Given the description of an element on the screen output the (x, y) to click on. 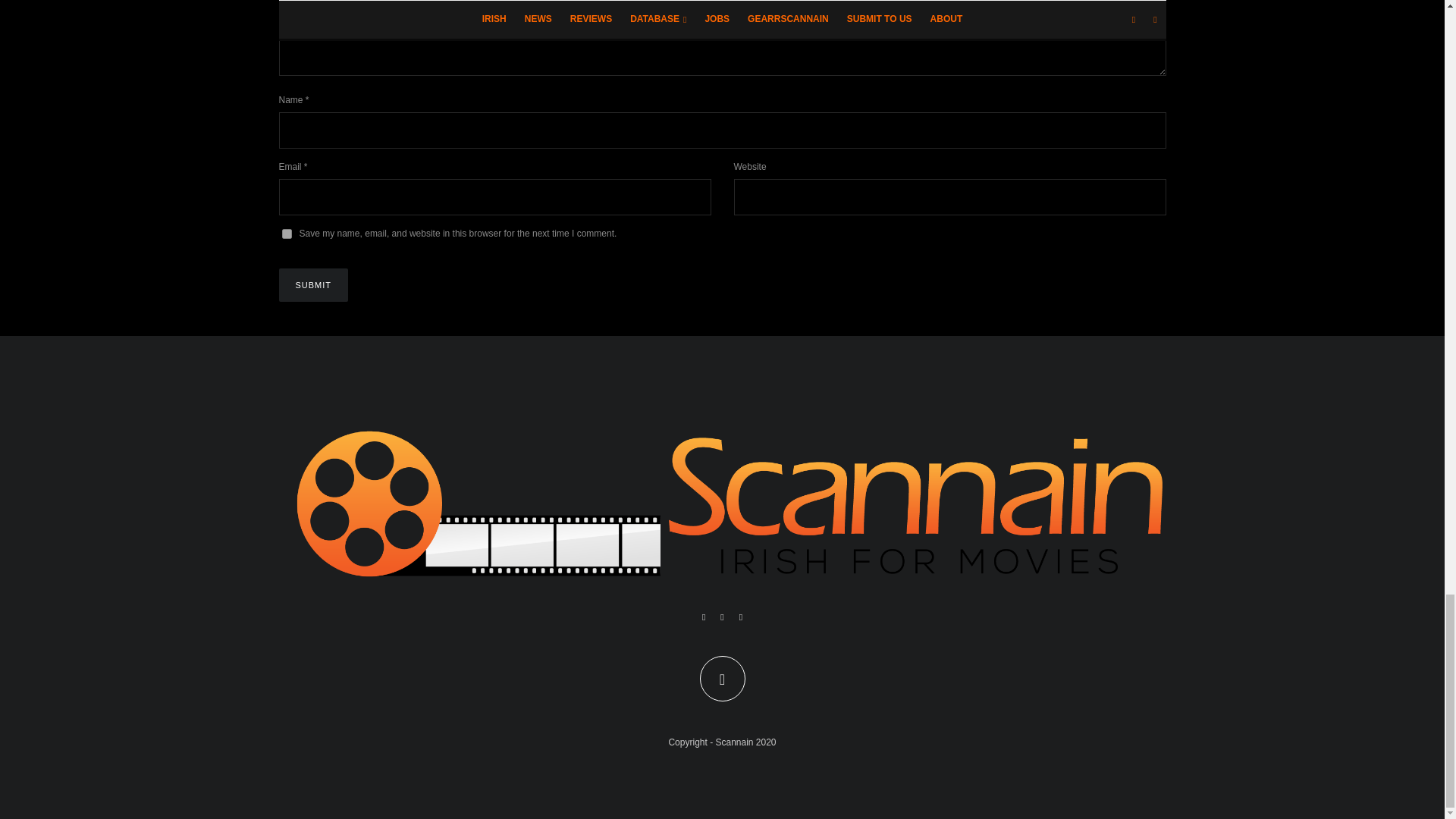
yes (287, 234)
Submit (314, 285)
